Given the description of an element on the screen output the (x, y) to click on. 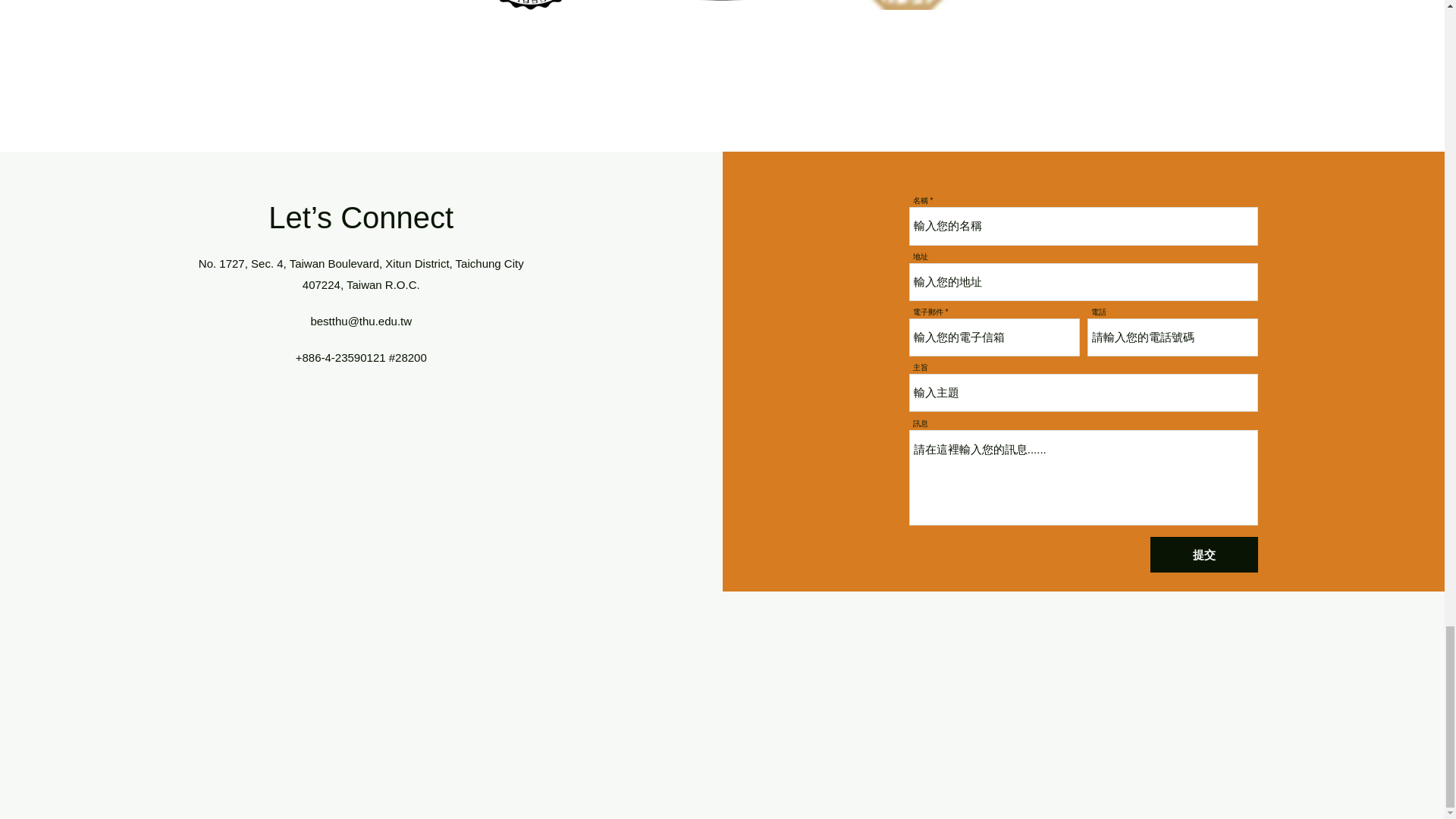
download-1.jpg (905, 4)
